Given the description of an element on the screen output the (x, y) to click on. 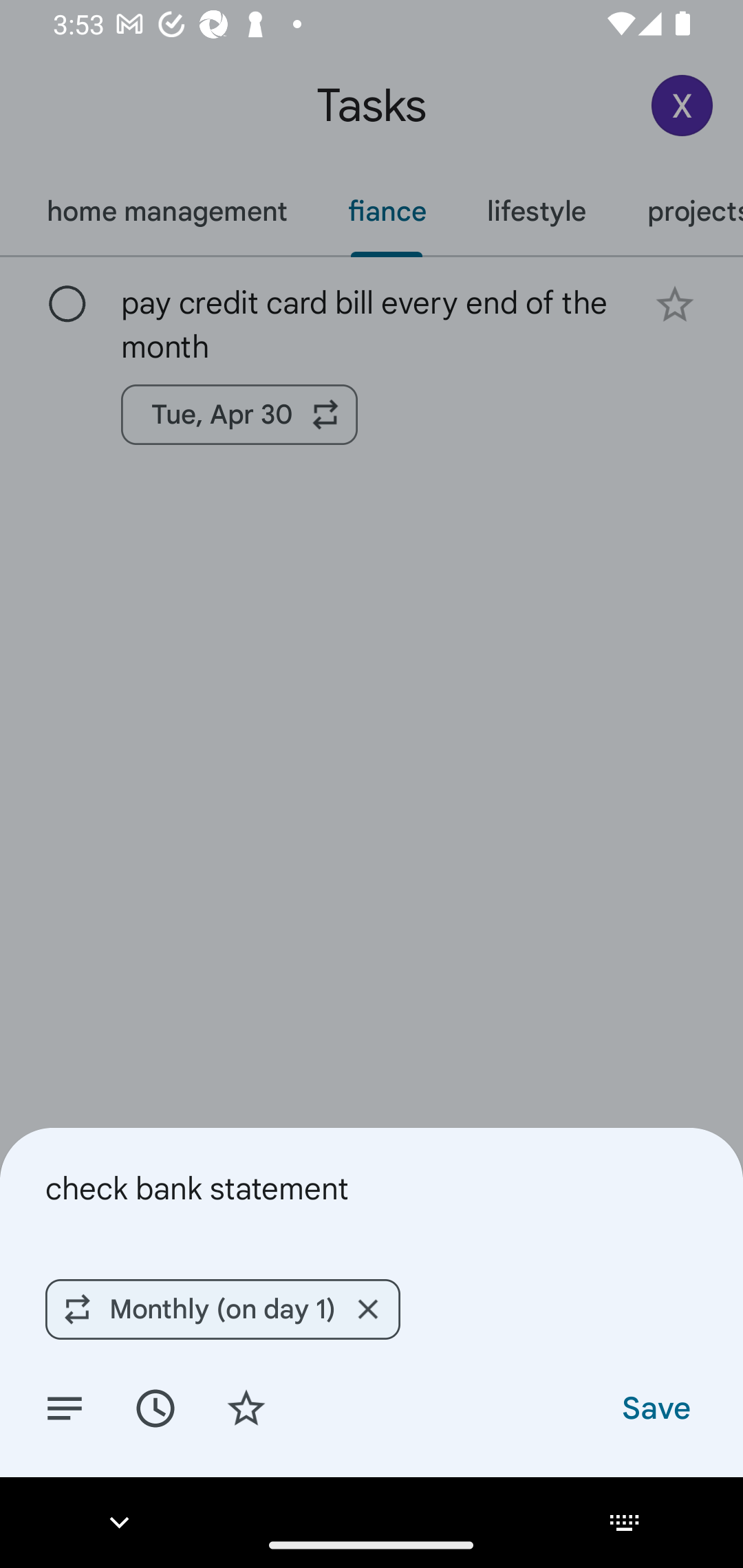
check bank statement (371, 1188)
Monthly (on day 1) Remove Monthly (on day 1) (222, 1308)
Save (655, 1407)
Add details (64, 1407)
Set date/time (154, 1407)
Add star (245, 1407)
